Given the description of an element on the screen output the (x, y) to click on. 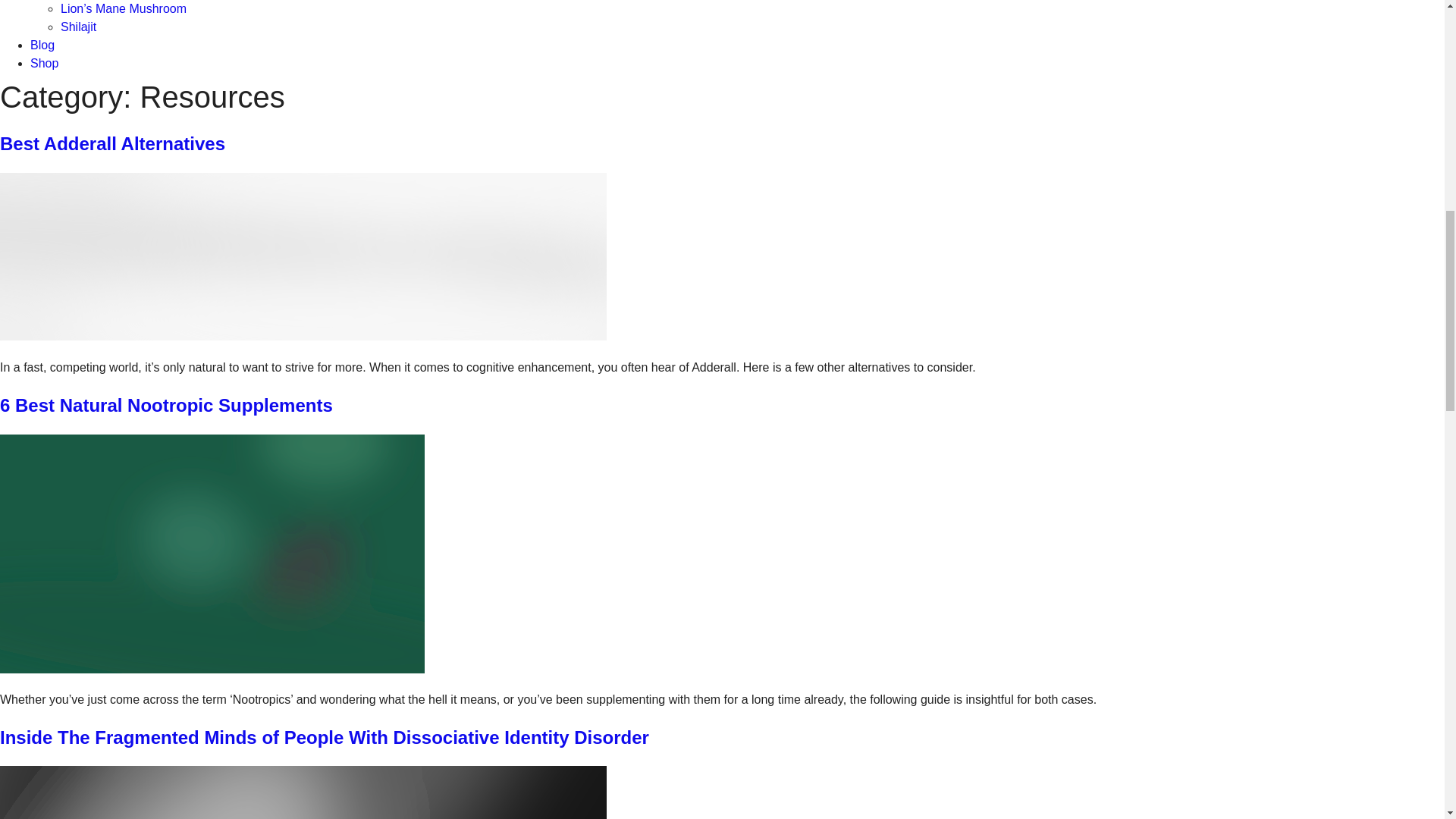
Best Adderall Alternatives 1 Nootropics Information (303, 256)
